Given the description of an element on the screen output the (x, y) to click on. 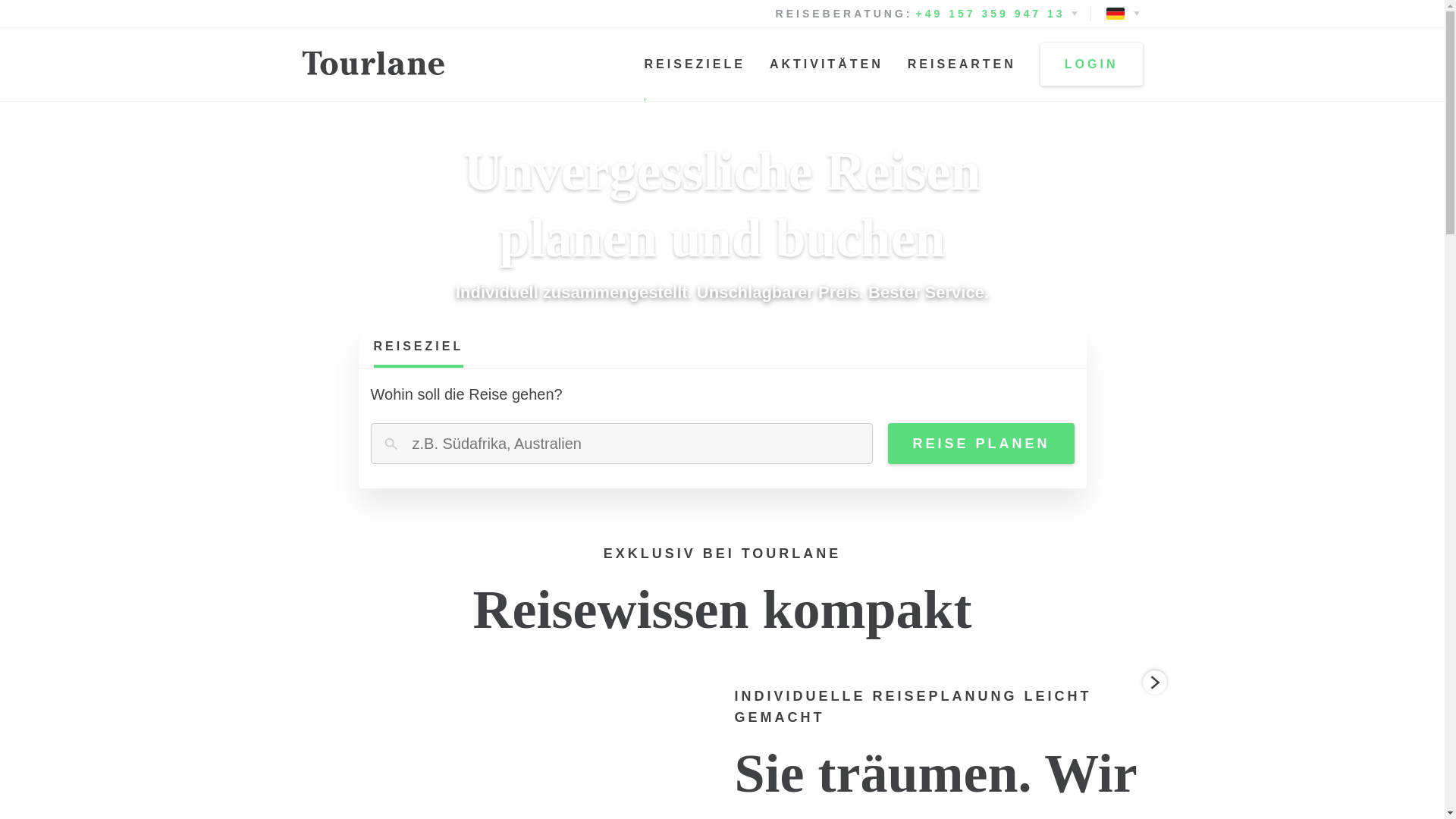
REISE PLANEN (981, 443)
REISEZIELE (695, 63)
REISEARTEN (961, 63)
LOGIN (1091, 64)
